Given the description of an element on the screen output the (x, y) to click on. 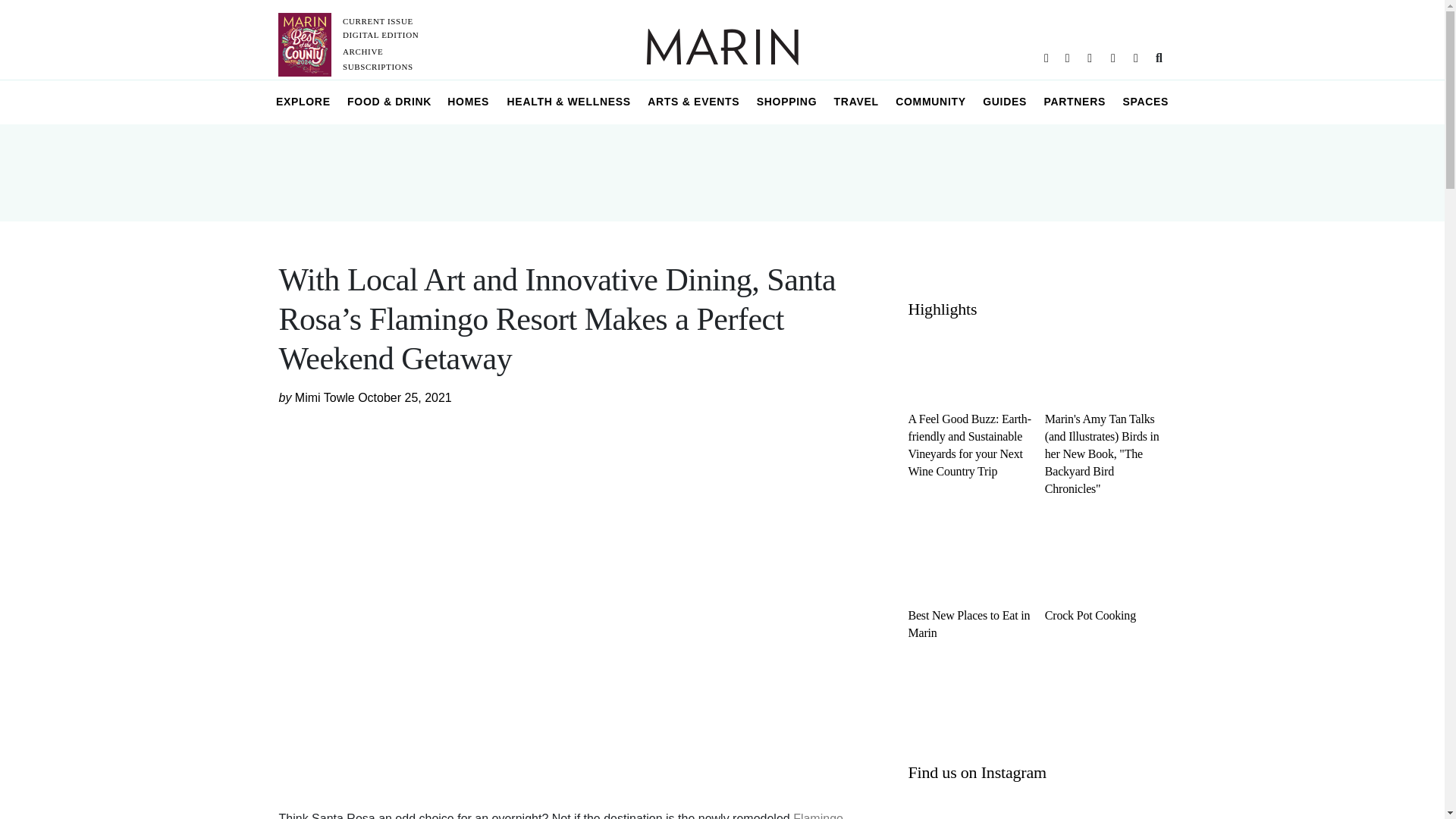
EXPLORE (303, 102)
ARCHIVE (362, 51)
DIGITAL EDITION (380, 34)
SUBSCRIPTIONS (377, 66)
HOMES (468, 102)
CURRENT ISSUE (377, 20)
